Given the description of an element on the screen output the (x, y) to click on. 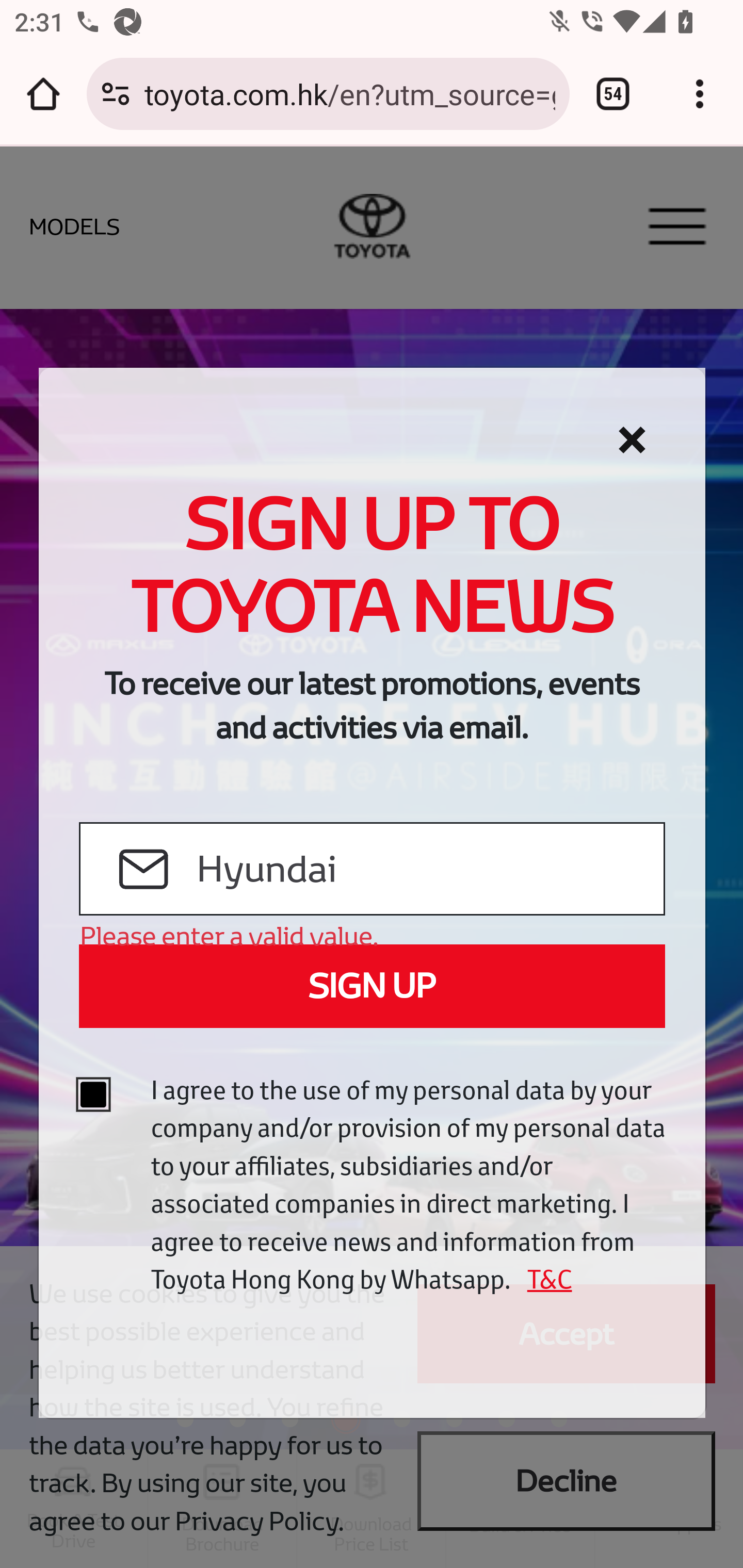
Open the home page (43, 93)
Connection is secure (115, 93)
Switch or close tabs (612, 93)
Customize and control Google Chrome (699, 93)
Cerrar (631, 440)
Hyundai (429, 869)
SIGN UP (371, 985)
T&C (543, 1279)
